Given the description of an element on the screen output the (x, y) to click on. 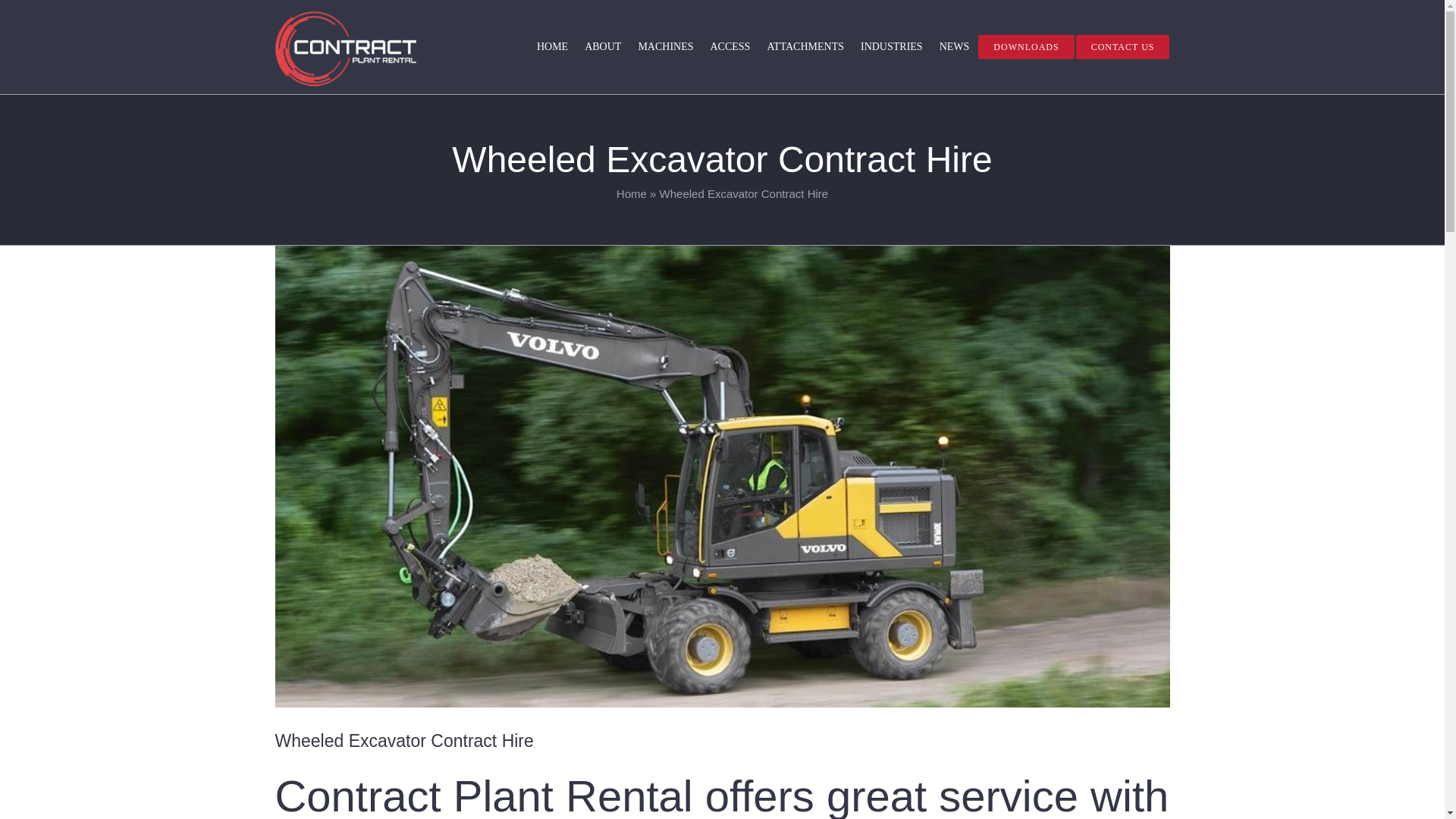
ACCESS (729, 46)
HOME (552, 46)
ABOUT (602, 46)
NEWS (953, 46)
Home (630, 193)
INDUSTRIES (891, 46)
DOWNLOADS (1026, 46)
CONTACT US (1122, 46)
MACHINES (665, 46)
ATTACHMENTS (804, 46)
